Given the description of an element on the screen output the (x, y) to click on. 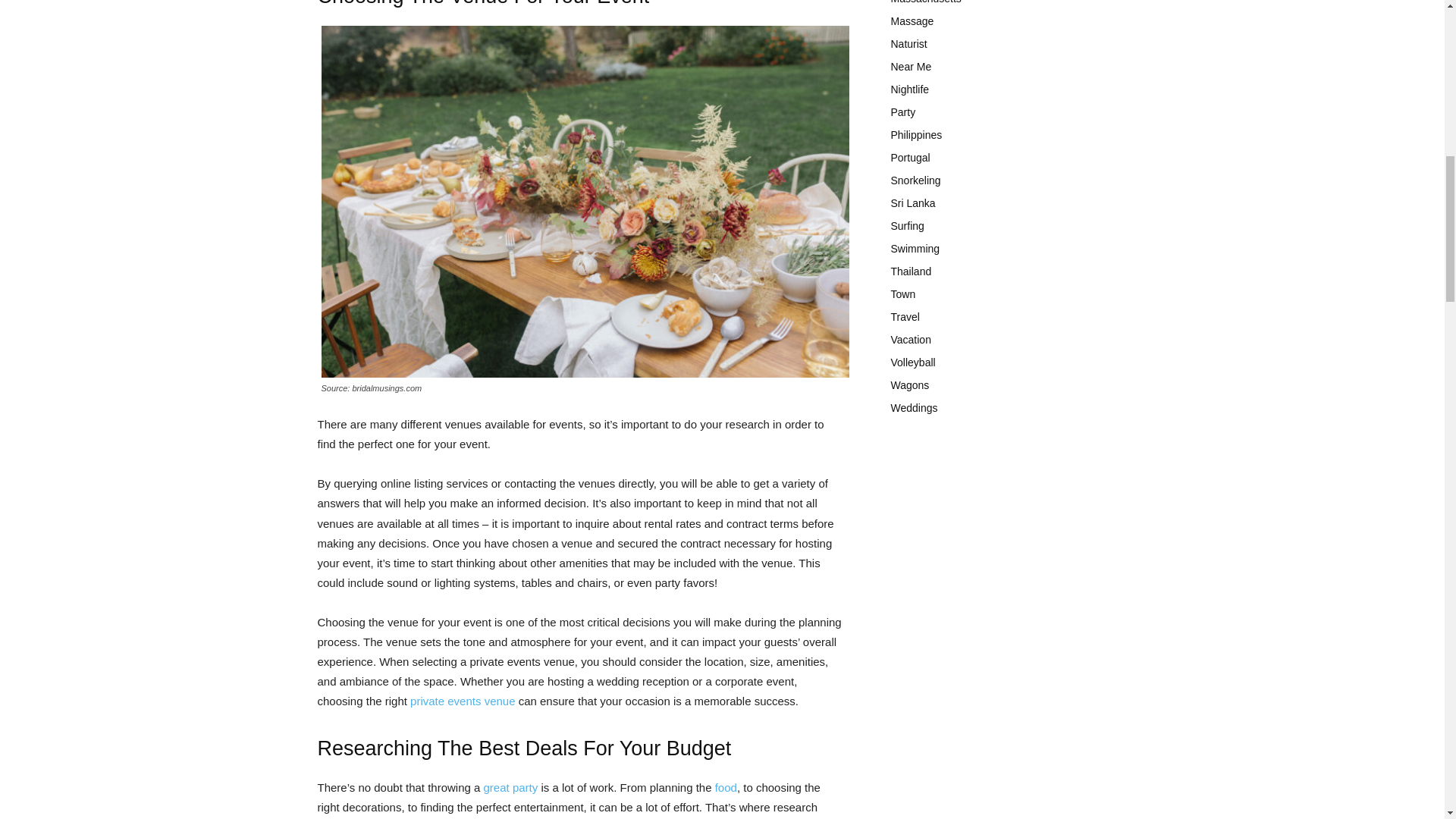
private events venue (462, 700)
food (725, 787)
great party (510, 787)
